Given the description of an element on the screen output the (x, y) to click on. 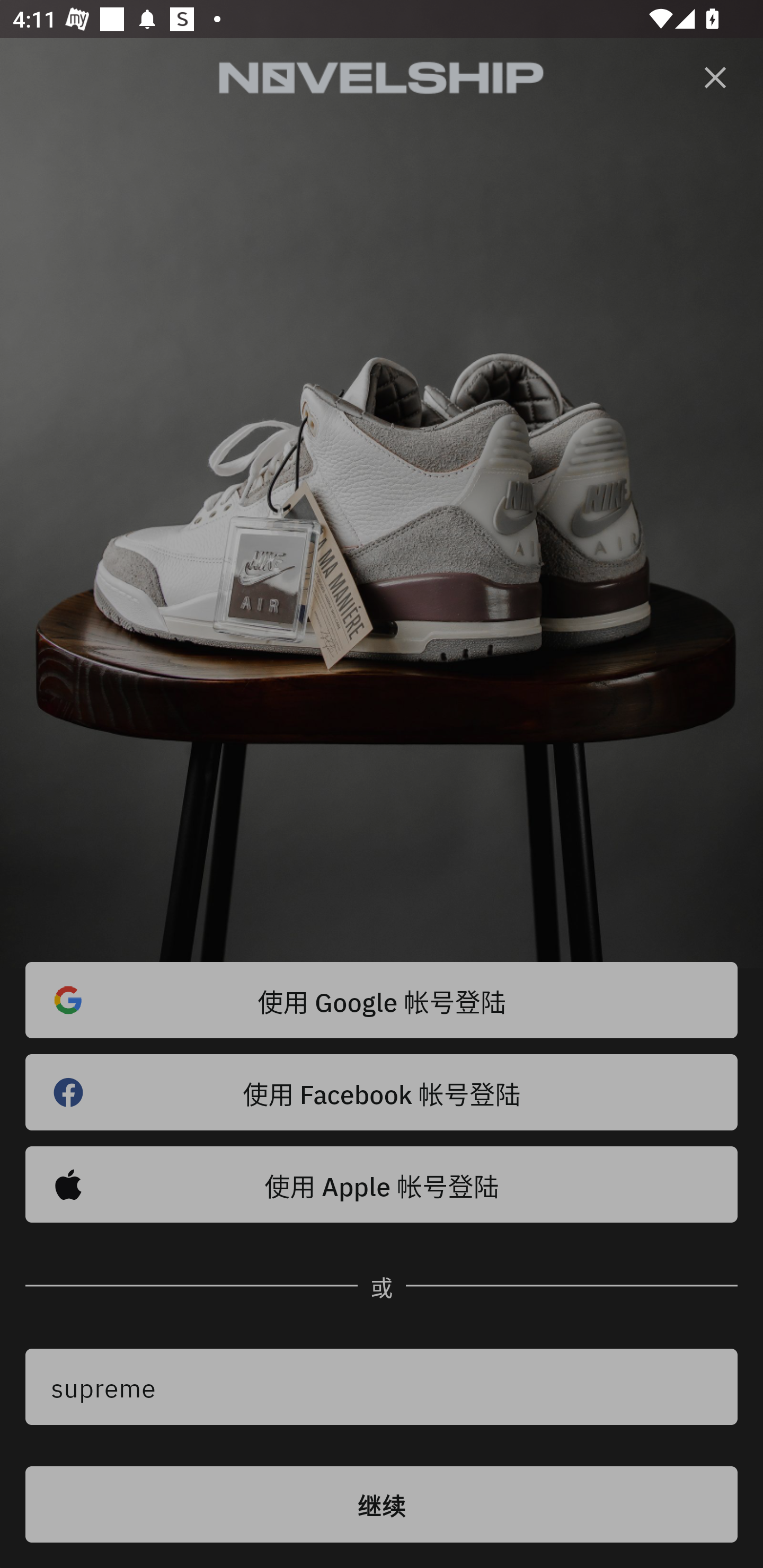
使用 Google 帐号登陆 (381, 1000)
使用 Facebook 帐号登陆 󰈌 (381, 1091)
 使用 Apple 帐号登陆 (381, 1184)
supreme (381, 1386)
继续 (381, 1504)
